Given the description of an element on the screen output the (x, y) to click on. 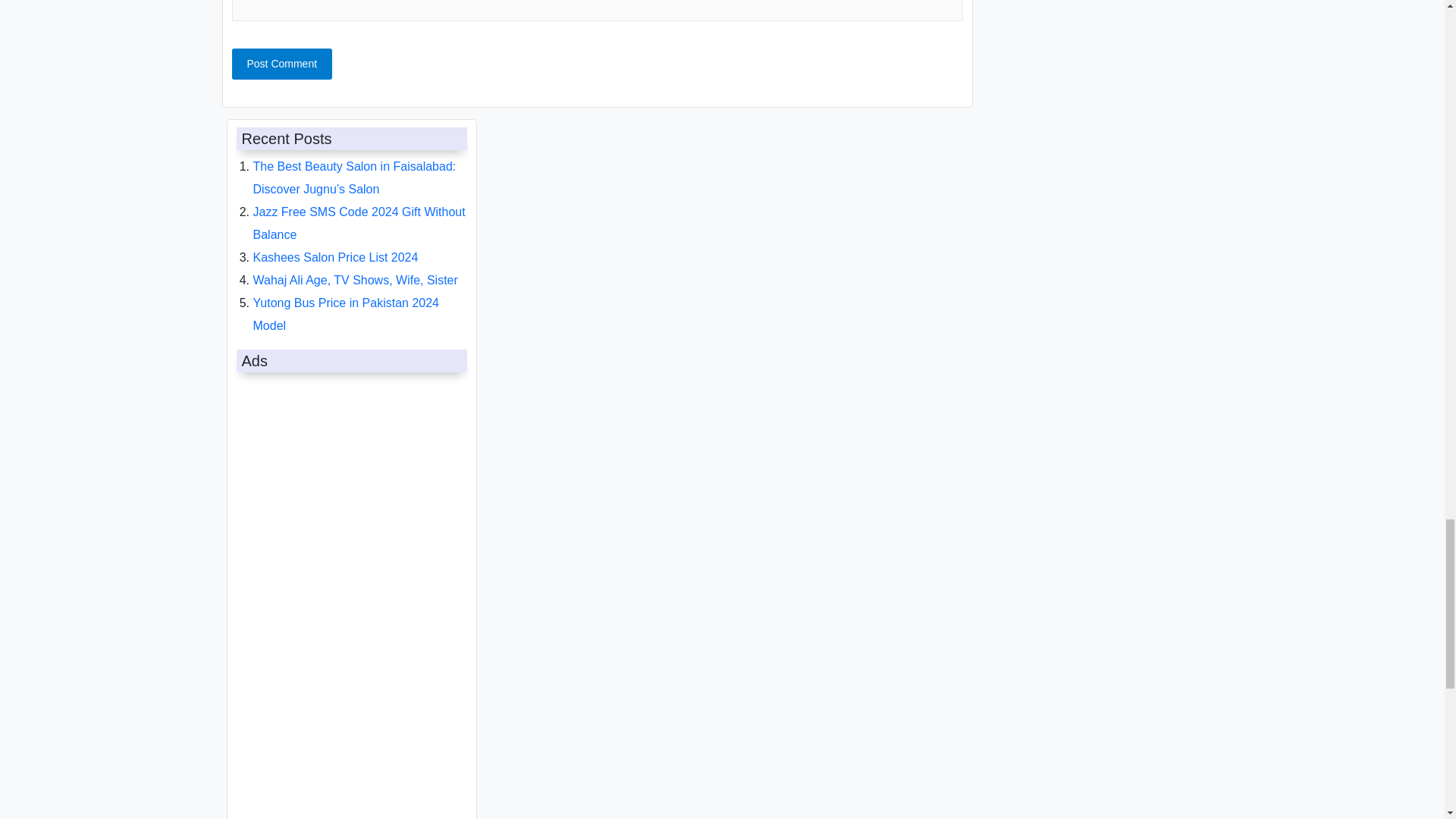
Yutong Bus Price in Pakistan 2024 Model (346, 314)
Kashees Salon Price List 2024 (336, 256)
Post Comment (282, 63)
Jazz Free SMS Code 2024 Gift Without Balance (359, 222)
Post Comment (282, 63)
Wahaj Ali Age, TV Shows, Wife, Sister (355, 279)
